Given the description of an element on the screen output the (x, y) to click on. 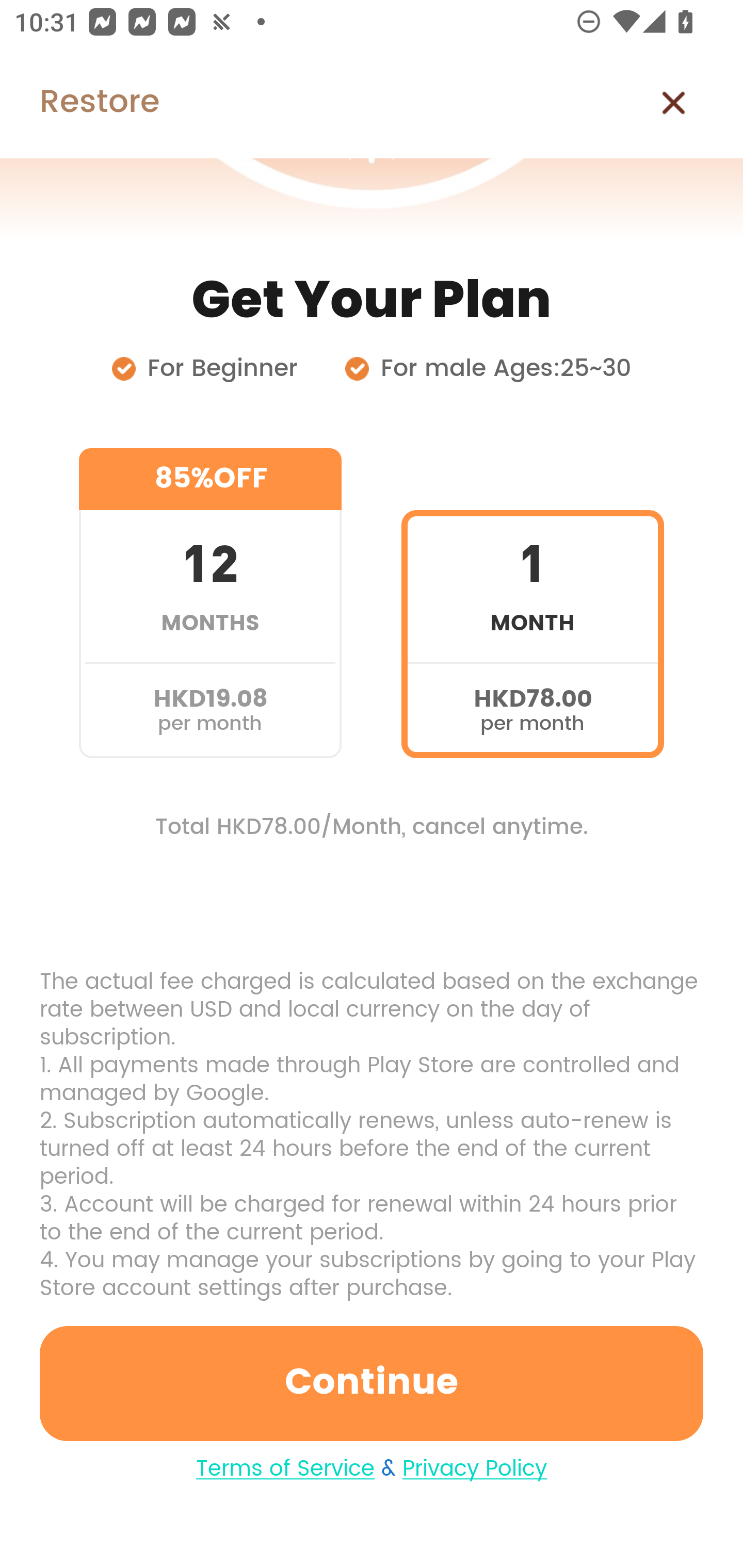
Restore (79, 102)
85%OFF 12 MONTHS per month HKD19.08 (209, 603)
1 MONTH per month HKD78.00 (532, 603)
Continue (371, 1383)
